Given the description of an element on the screen output the (x, y) to click on. 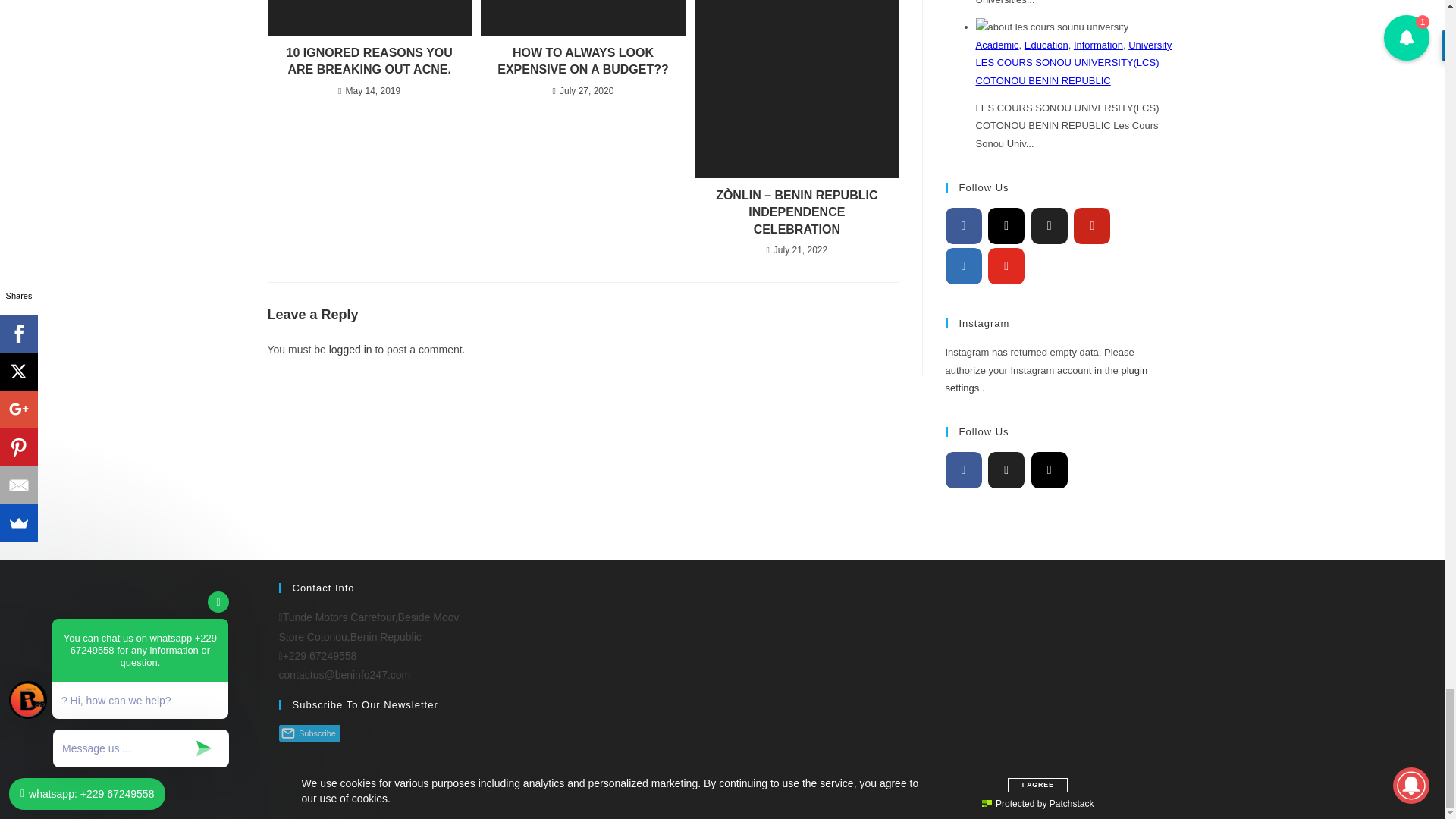
Instagram (1006, 226)
Facebook (962, 226)
